Given the description of an element on the screen output the (x, y) to click on. 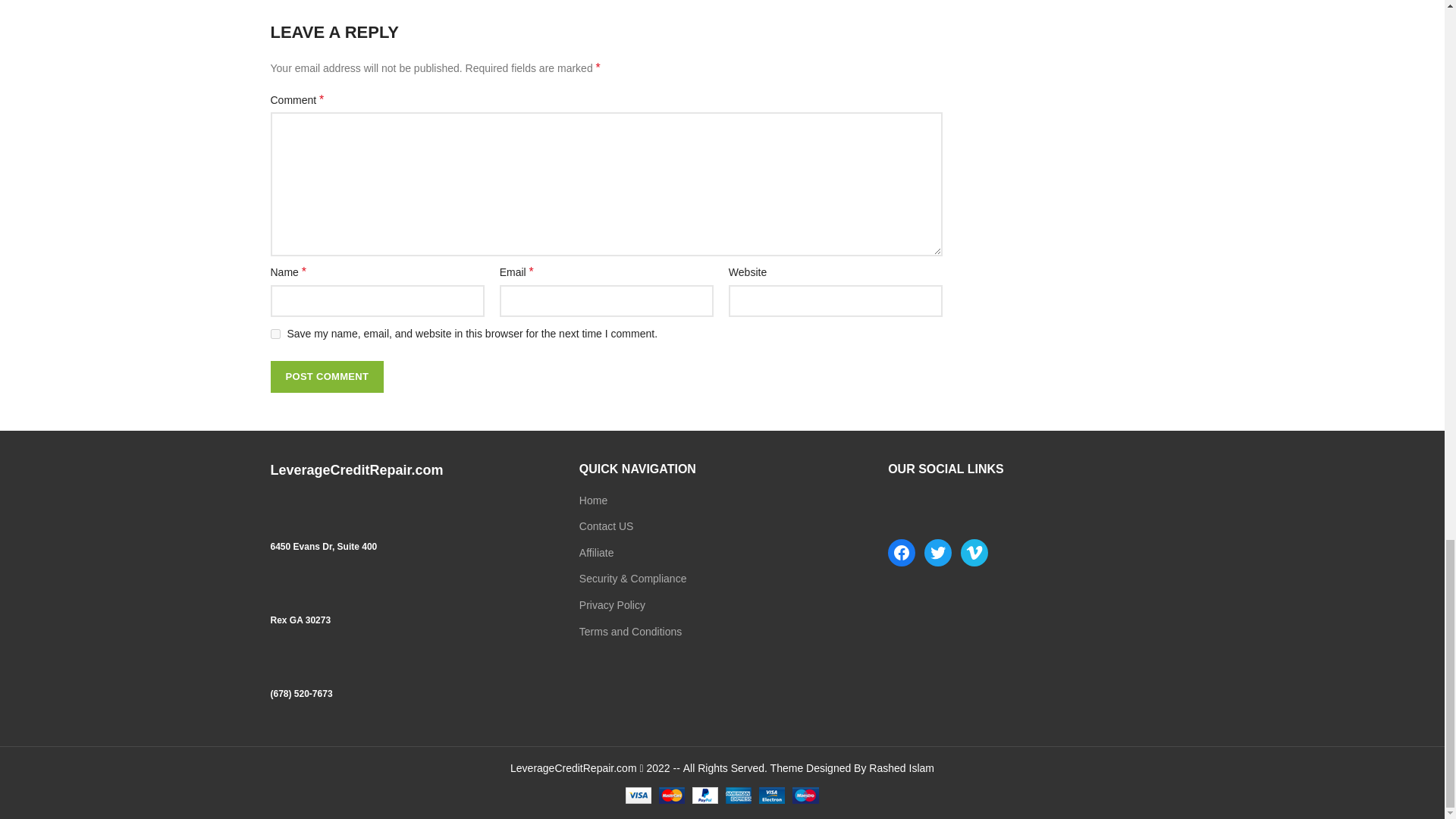
Post Comment (326, 377)
Home (593, 500)
Rashed Islam (901, 767)
Affiliate (596, 552)
Terms and Conditions (630, 631)
LeverageCreditRepair.com (575, 767)
Post Comment (326, 377)
Privacy Policy (612, 604)
Contact US (606, 526)
yes (274, 334)
